Given the description of an element on the screen output the (x, y) to click on. 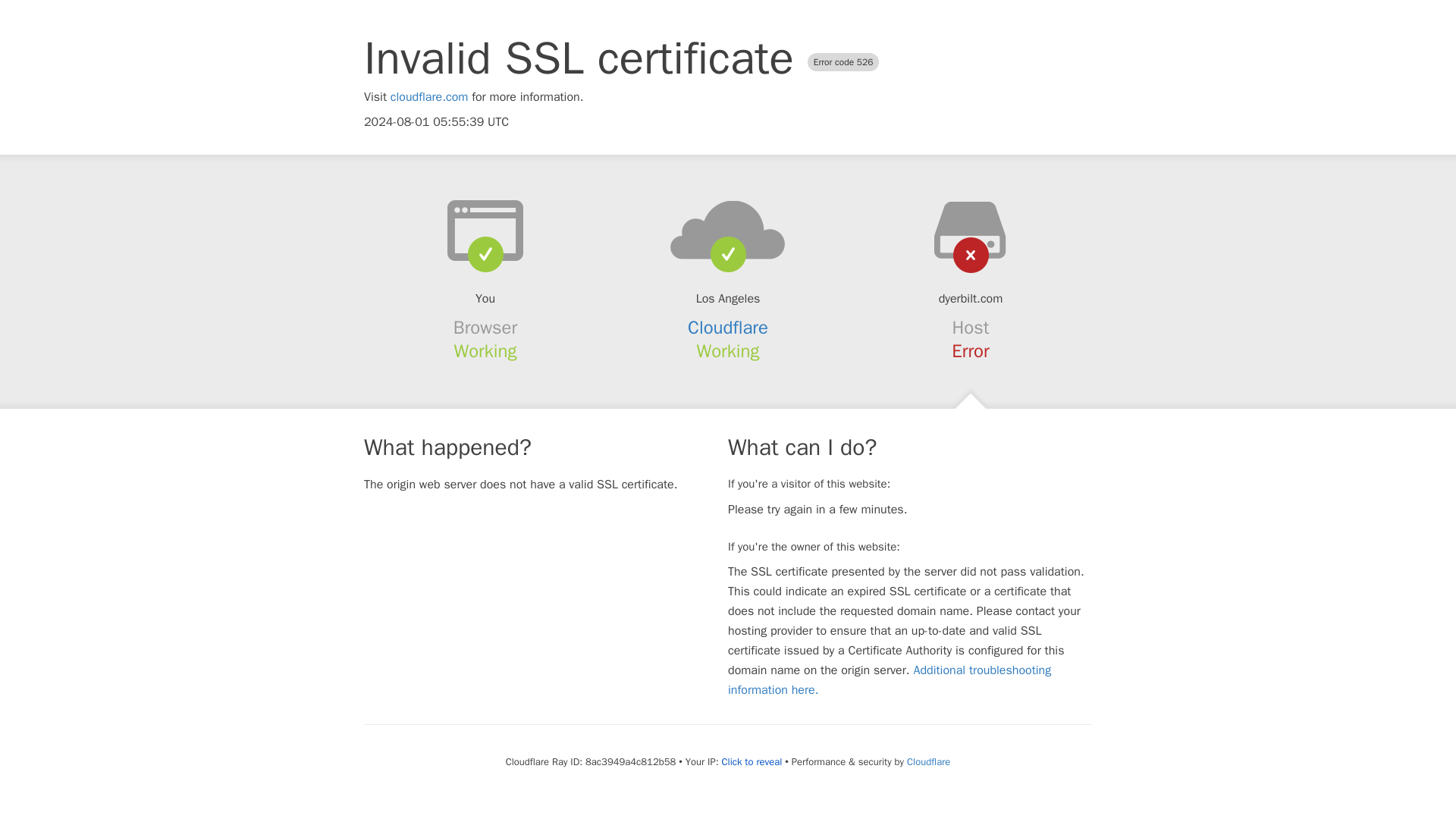
cloudflare.com (429, 96)
Additional troubleshooting information here. (889, 679)
Click to reveal (750, 762)
Cloudflare (727, 327)
Cloudflare (928, 761)
